Given the description of an element on the screen output the (x, y) to click on. 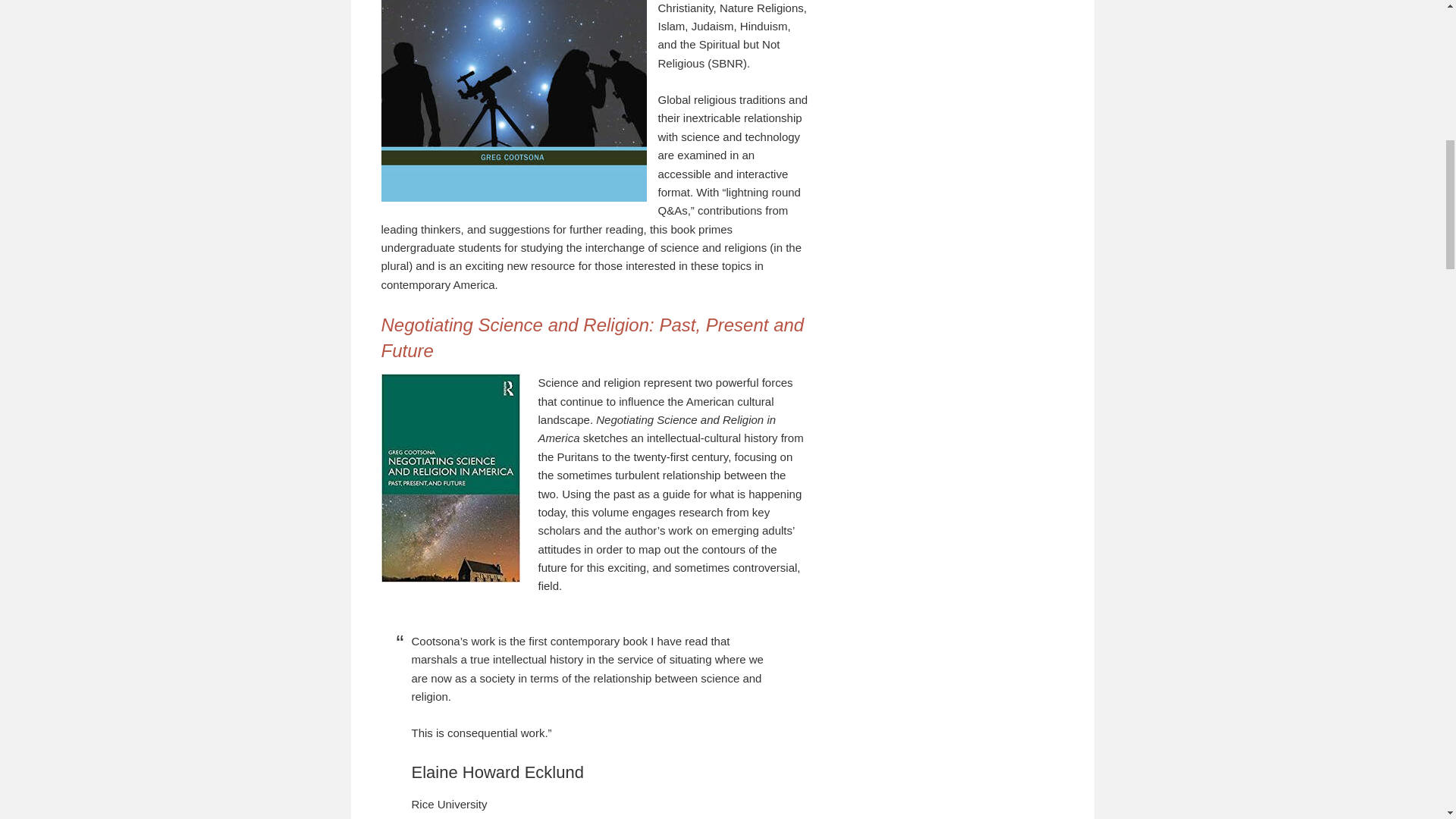
Negotiating Science and Religion: Past, Present and Future (591, 337)
